Given the description of an element on the screen output the (x, y) to click on. 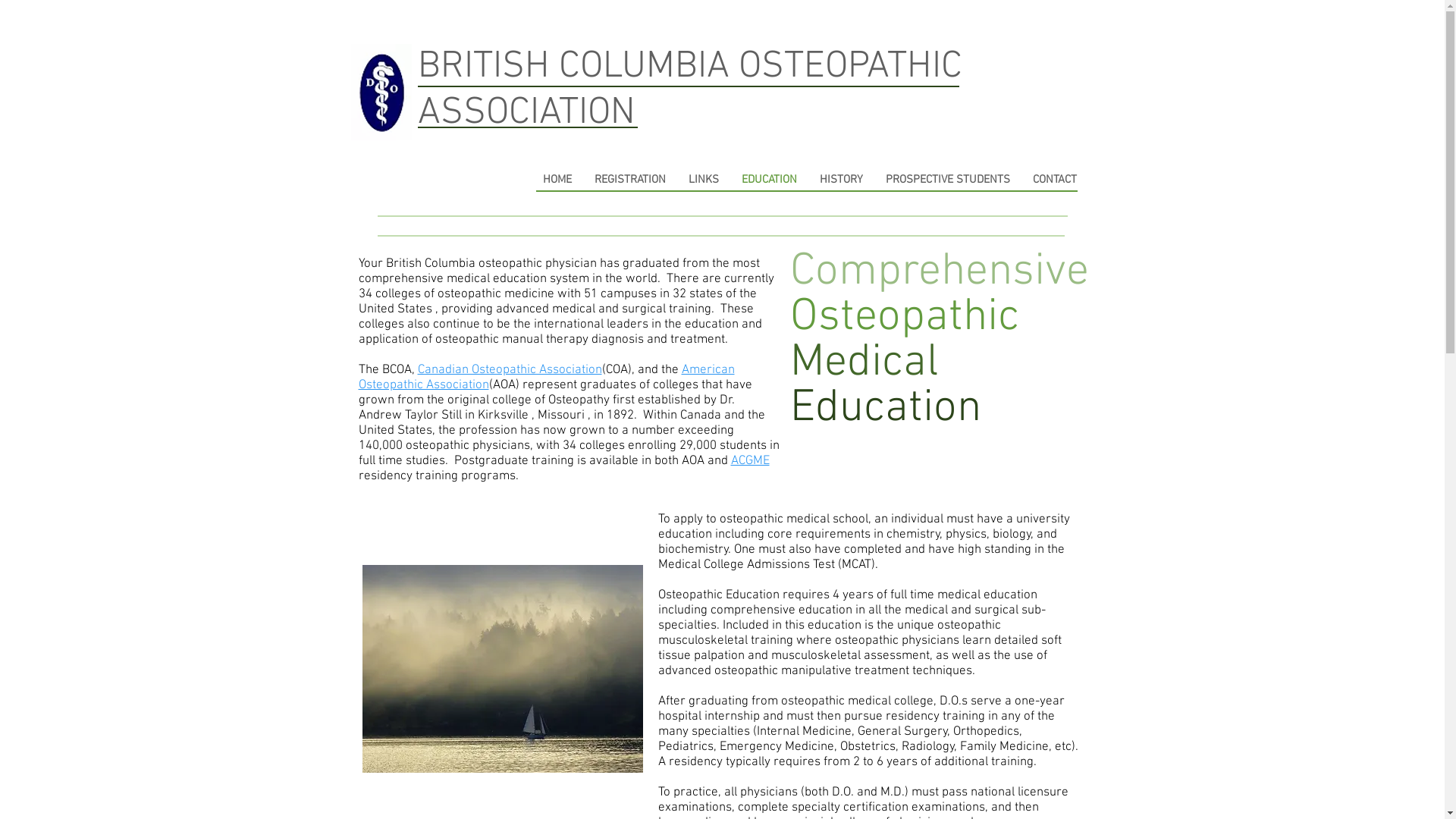
PROSPECTIVE STUDENTS Element type: text (946, 179)
BRITISH COLUMBIA OSTEOPATHIC Element type: text (689, 66)
EDUCATION Element type: text (768, 179)
CONTACT Element type: text (1053, 179)
HISTORY Element type: text (841, 179)
LINKS Element type: text (702, 179)
ACGME Element type: text (750, 460)
American Osteopathic Association Element type: text (545, 377)
Canadian Osteopathic Association Element type: text (509, 369)
REGISTRATION Element type: text (629, 179)
HOME Element type: text (556, 179)
